Given the description of an element on the screen output the (x, y) to click on. 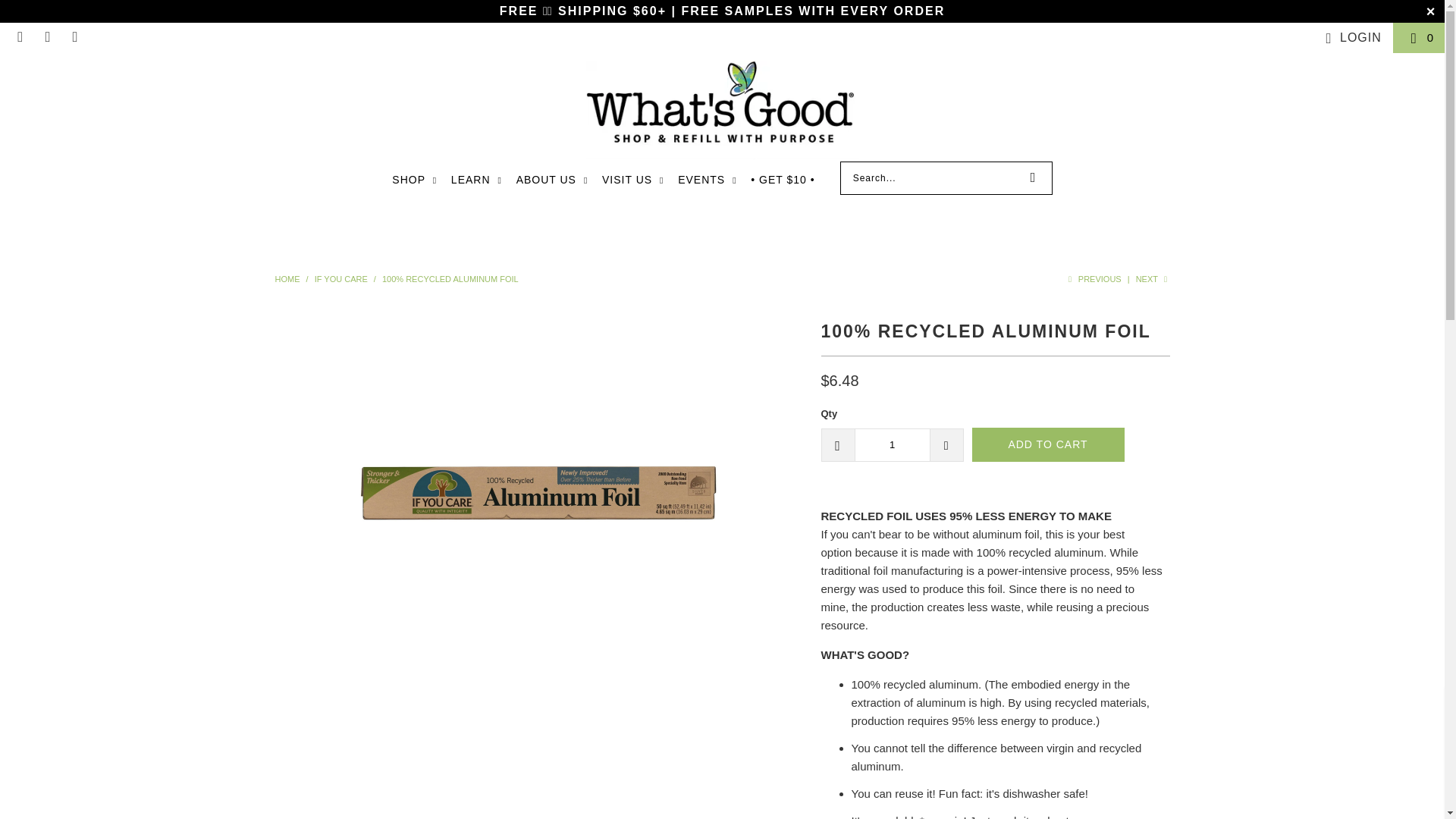
If You Care (341, 278)
Previous (1092, 278)
What's Good (722, 110)
My Account  (1350, 37)
What's Good (288, 278)
Email What's Good (19, 37)
1 (891, 444)
What's Good on Instagram (73, 37)
What's Good on Facebook (47, 37)
Next (1152, 278)
